Given the description of an element on the screen output the (x, y) to click on. 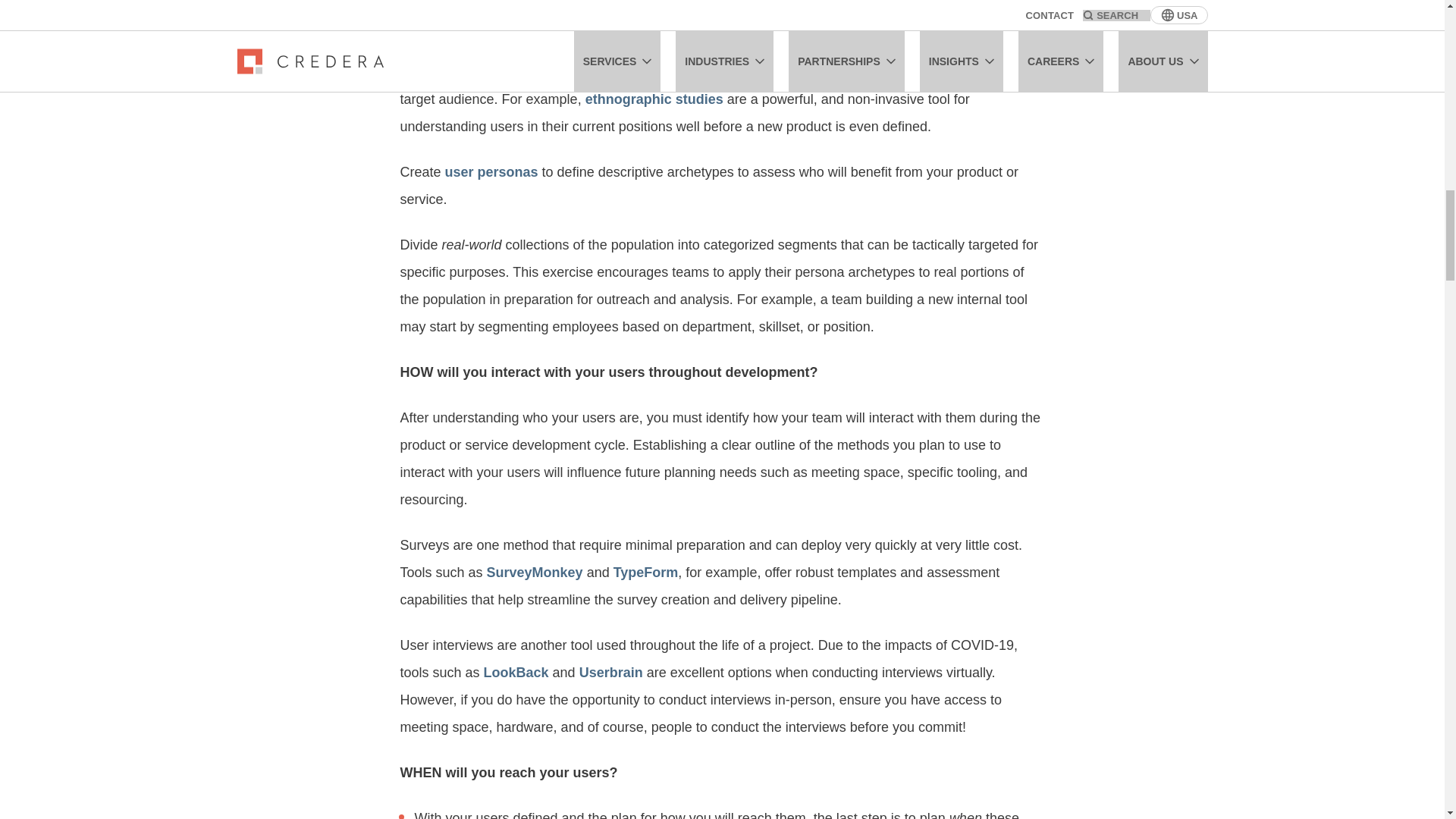
user personas (489, 171)
Userbrain (611, 672)
research (512, 71)
SurveyMonkey (534, 572)
TypeForm (645, 572)
ethnographic studies (654, 99)
LookBack (515, 672)
